Given the description of an element on the screen output the (x, y) to click on. 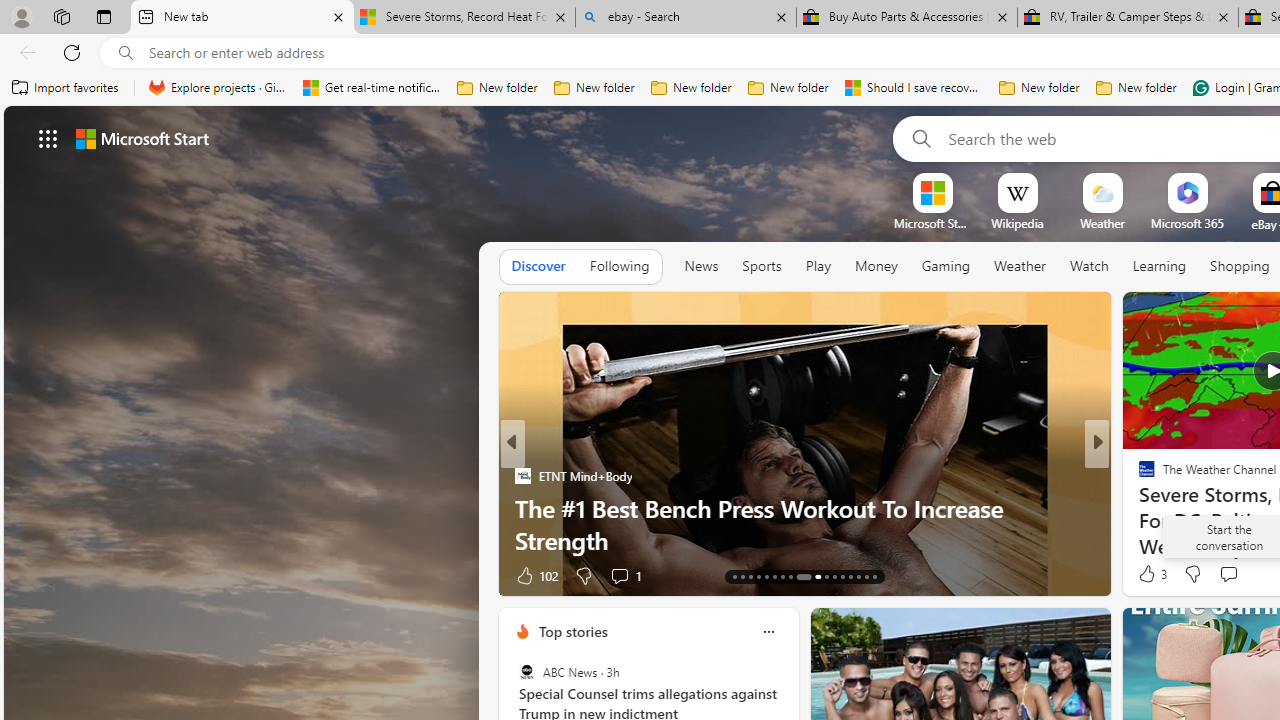
AutomationID: tab-22 (812, 576)
View comments 167 Comment (1247, 574)
Should I save recovered Word documents? - Microsoft Support (913, 88)
Top stories (572, 631)
